Given the description of an element on the screen output the (x, y) to click on. 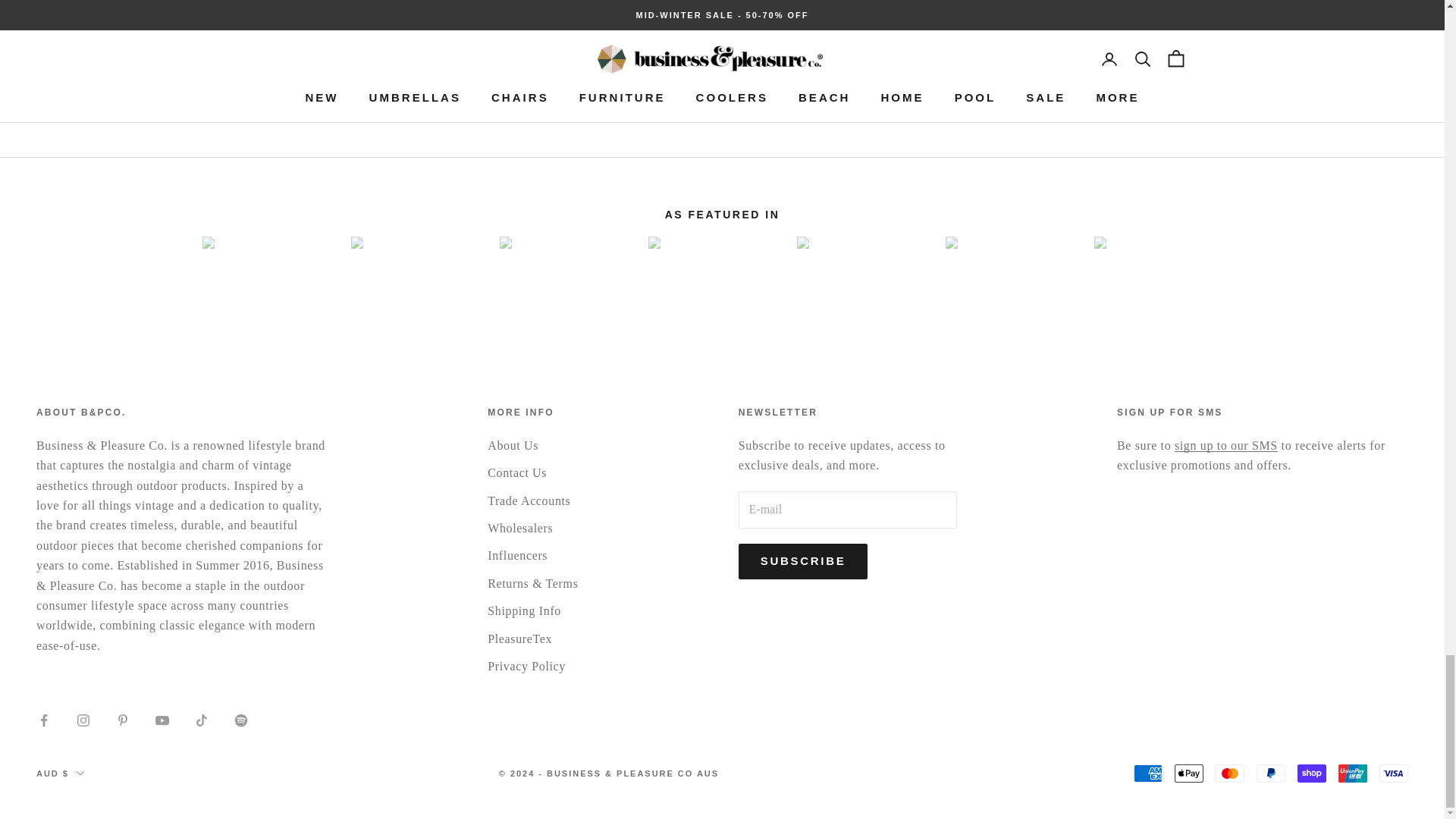
SMS Sign Up (1226, 445)
